Given the description of an element on the screen output the (x, y) to click on. 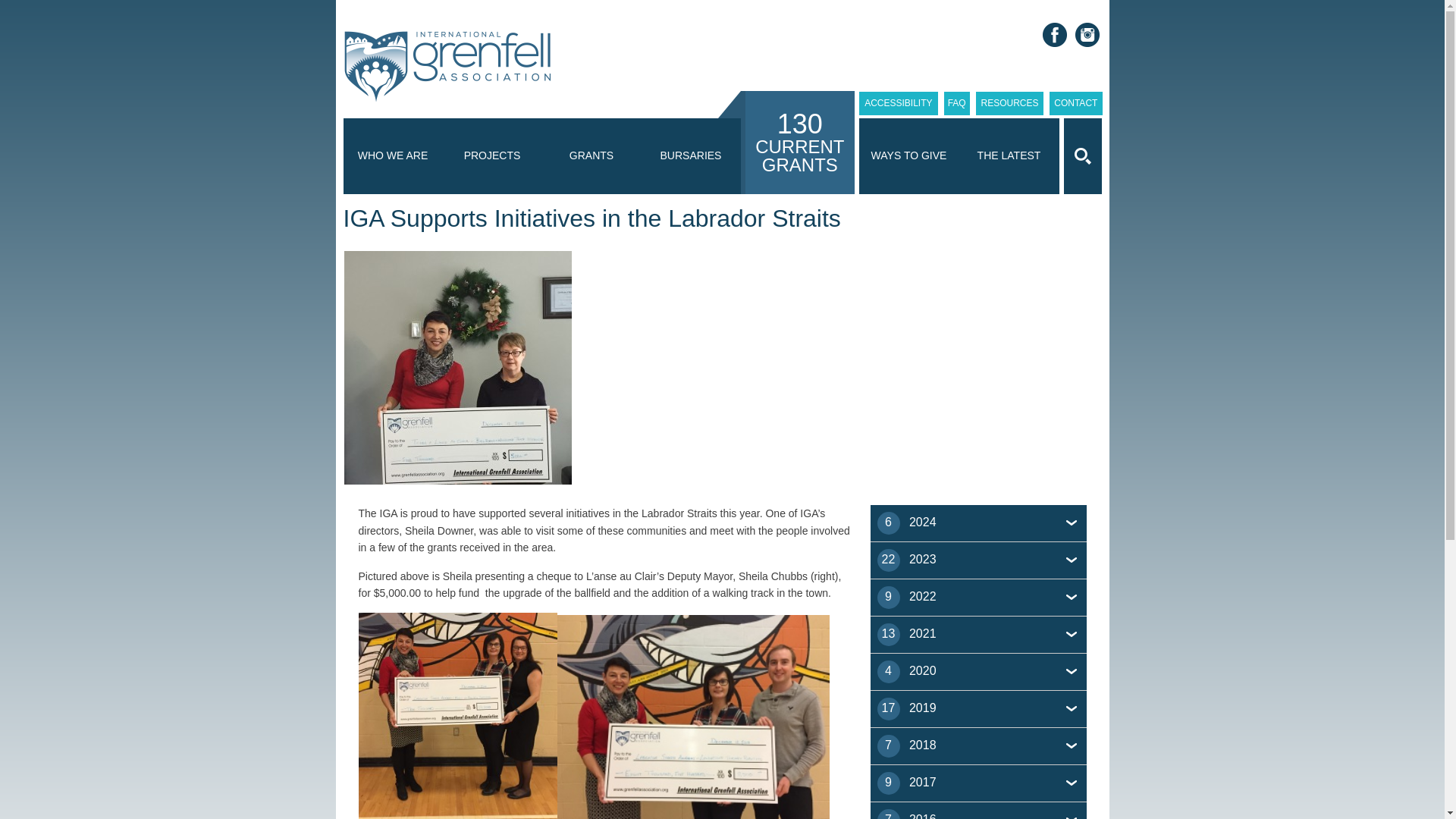
IGA Supports Initiatives in the Labrador Straits (457, 367)
RESOURCES (1009, 102)
THE LATEST (1008, 155)
Follow International Grenfell Association on Instagram (1087, 34)
FAQ (956, 102)
CONTACT (1075, 102)
WAYS TO GIVE (908, 155)
PROJECTS (491, 155)
Like International Grenfell Association on Facebook (1054, 34)
SKIP NAVIGATION (928, 129)
